Given the description of an element on the screen output the (x, y) to click on. 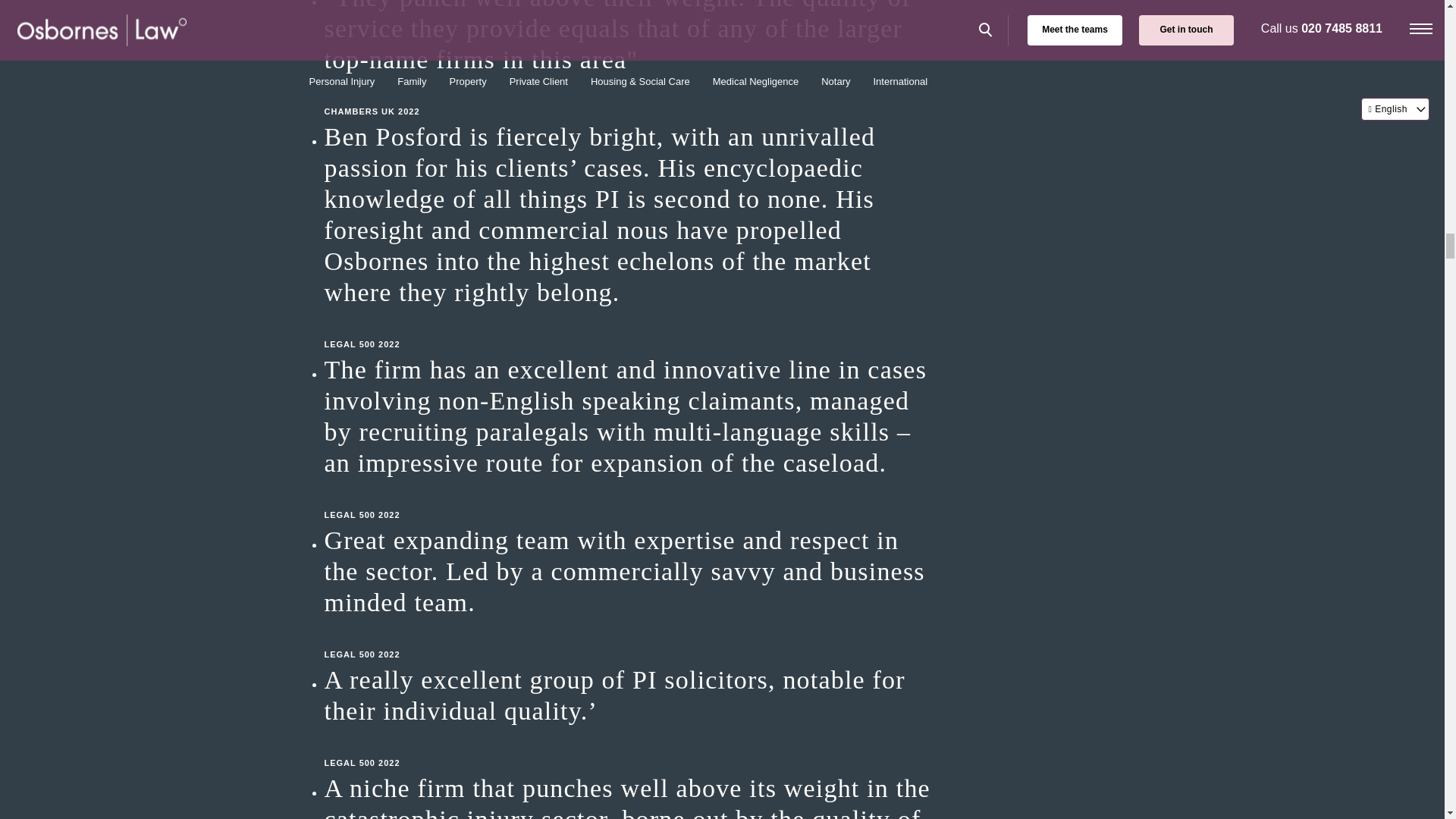
LEGAL 500 2022 (627, 328)
CHAMBERS UK 2022 (627, 96)
LEGAL 500 2022 (627, 639)
LEGAL 500 2022 (627, 499)
LEGAL 500 2022 (627, 747)
